Given the description of an element on the screen output the (x, y) to click on. 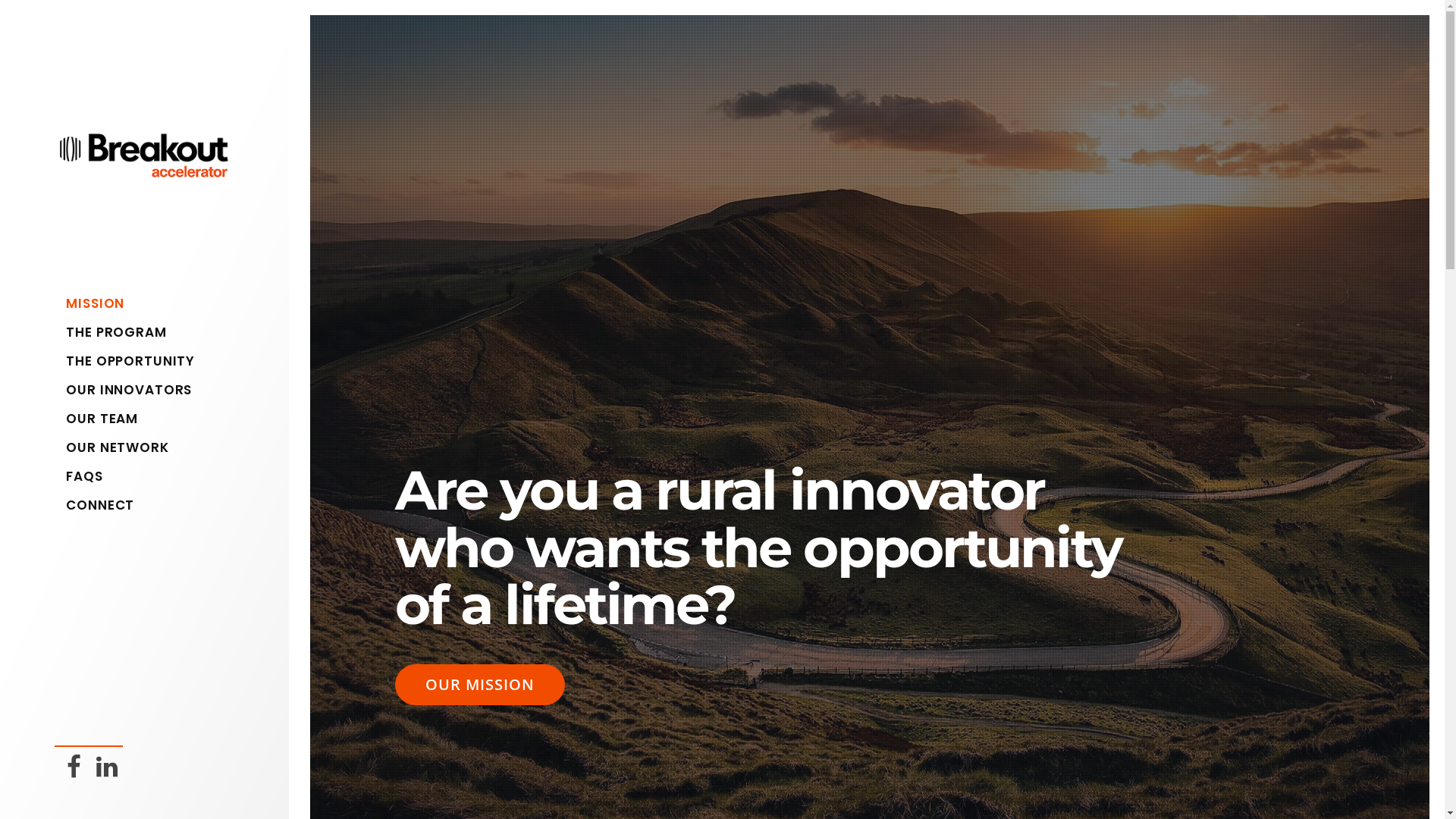
THE PROGRAM Element type: text (149, 331)
OUR INNOVATORS Element type: text (149, 389)
OUR NETWORK Element type: text (149, 447)
FAQS Element type: text (149, 475)
Breakout Accelerator Element type: hover (143, 175)
OUR MISSION Element type: text (479, 684)
MISSION Element type: text (149, 302)
CONNECT Element type: text (149, 504)
OUR TEAM Element type: text (149, 418)
THE OPPORTUNITY Element type: text (149, 360)
